Given the description of an element on the screen output the (x, y) to click on. 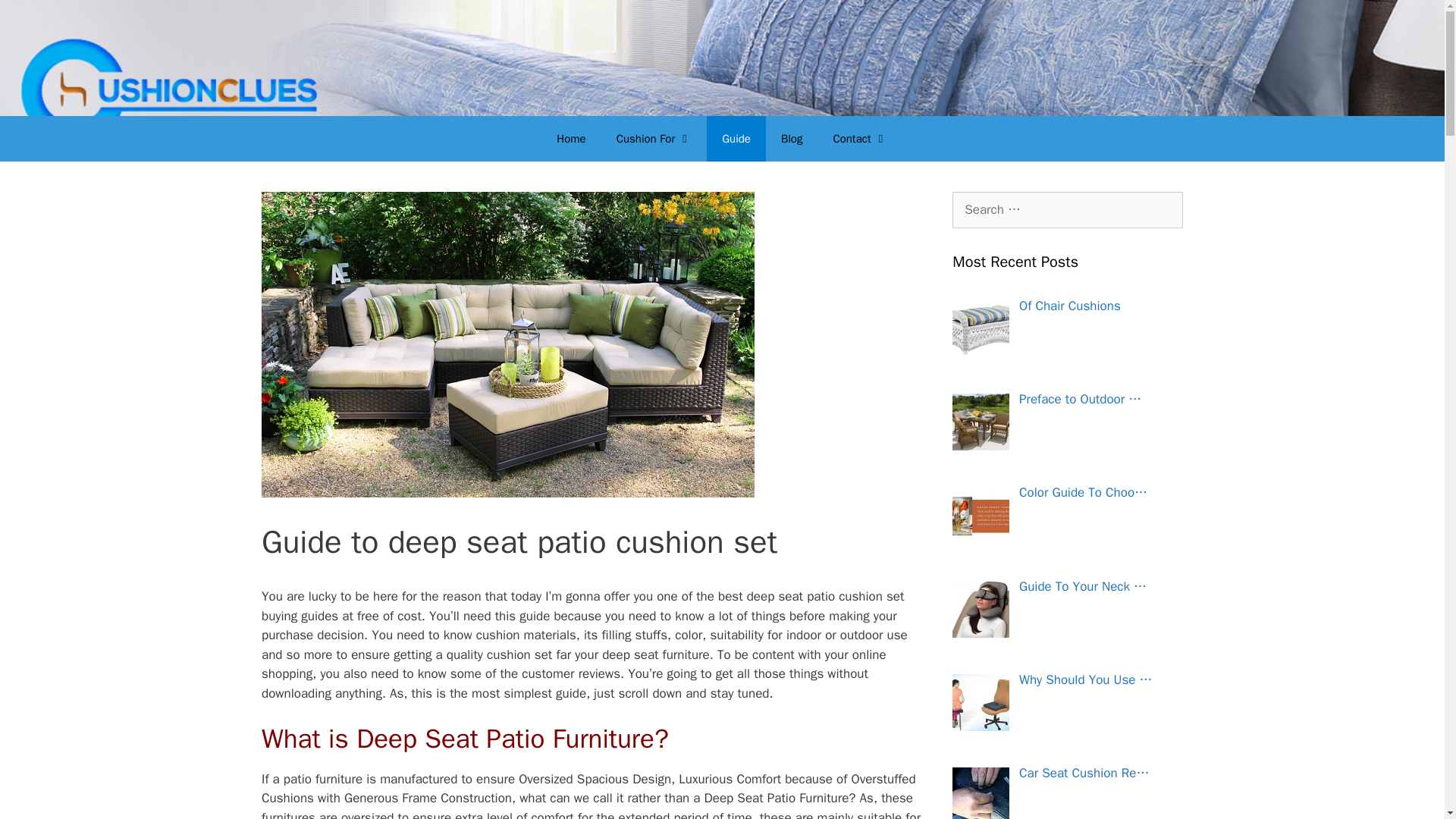
Blog (790, 138)
Of Chair Cushions (1070, 304)
Search for: (1067, 209)
Cushion For (654, 138)
Contact (859, 138)
Home (570, 138)
Guide (735, 138)
Search (35, 18)
